Given the description of an element on the screen output the (x, y) to click on. 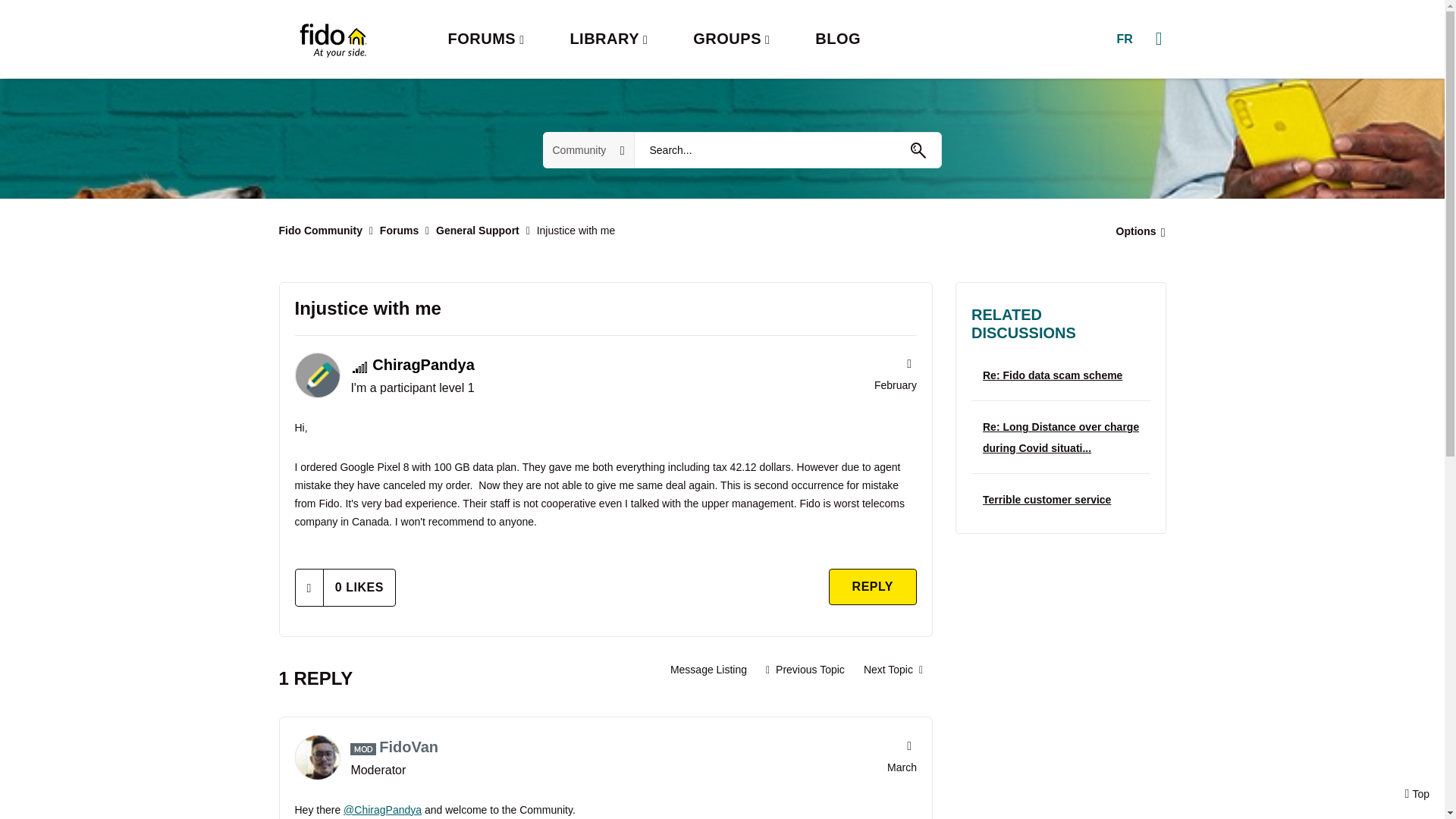
Fido Community (320, 230)
Search (787, 149)
BLOG (837, 39)
Show option menu (1136, 230)
I'm a participant level 1 (359, 367)
LIBRARY (608, 39)
GROUPS (730, 39)
Go (917, 149)
FR (1124, 38)
Search Granularity (588, 149)
